Given the description of an element on the screen output the (x, y) to click on. 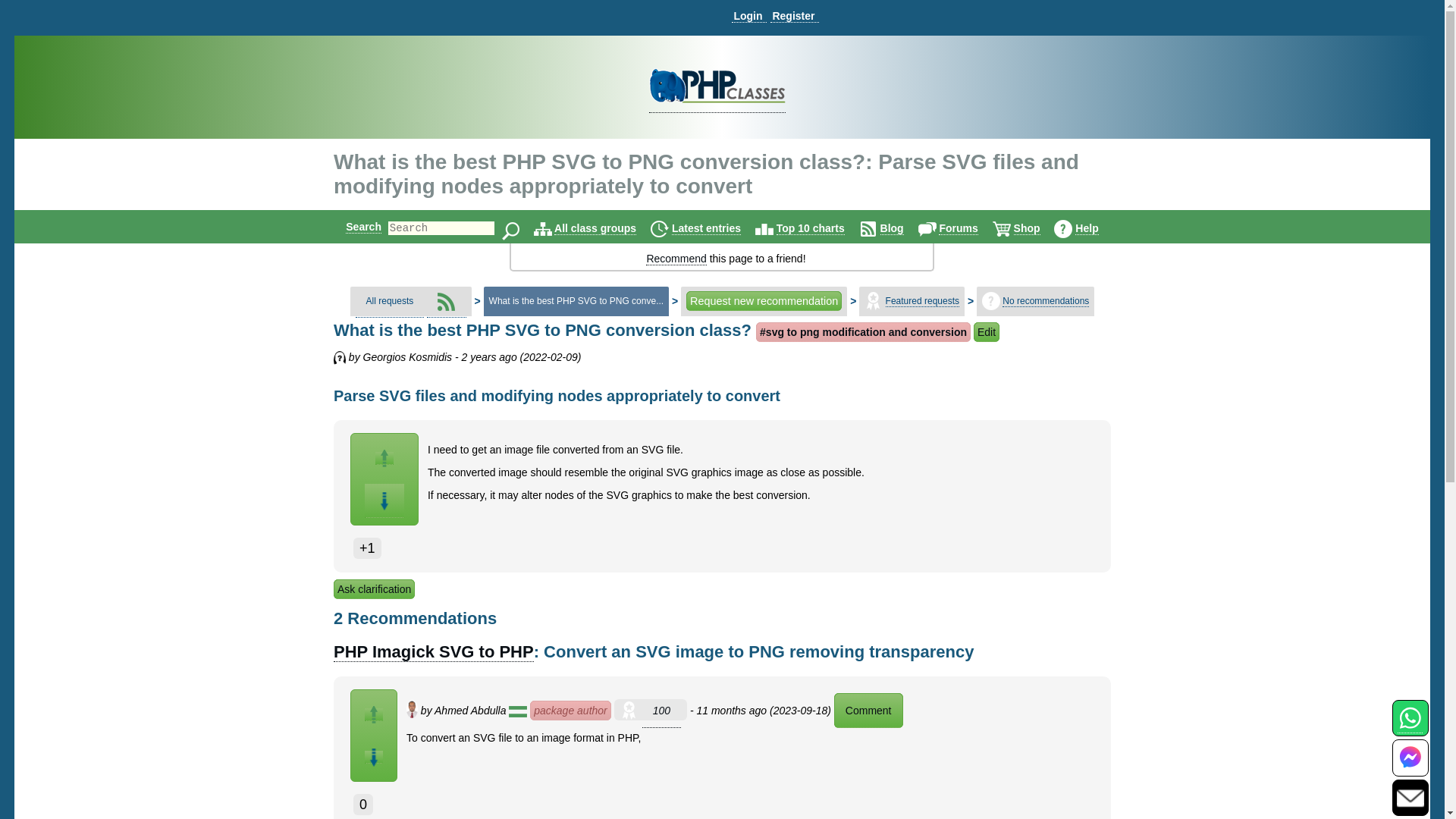
Ask clarification (373, 588)
Featured requests (922, 301)
No recommendations (1046, 301)
Shop (1027, 228)
Comment (868, 710)
100 (661, 710)
Search (363, 226)
All class groups (595, 228)
This recommendation does not solve the problem. (373, 757)
Contact us using Messenger (1409, 766)
